Given the description of an element on the screen output the (x, y) to click on. 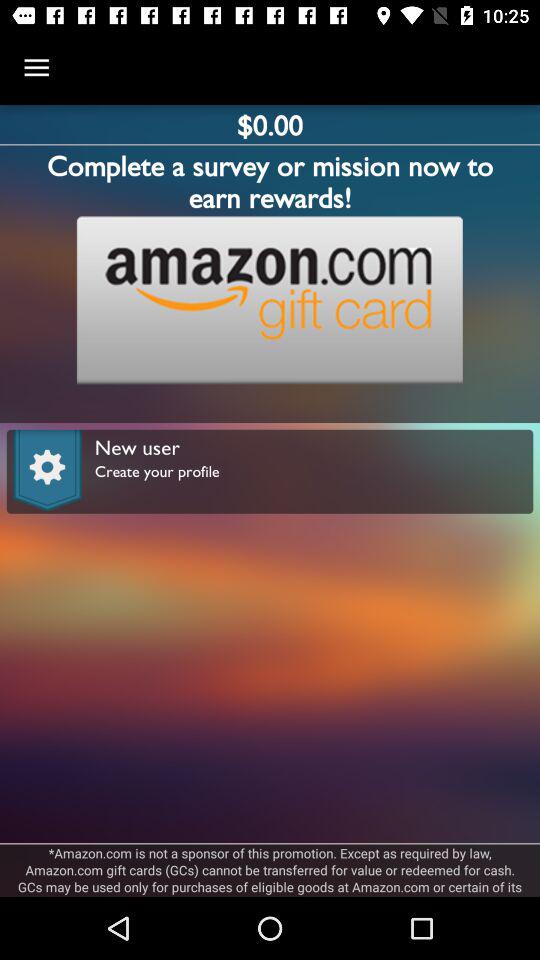
turn off the icon at the top left corner (36, 68)
